Given the description of an element on the screen output the (x, y) to click on. 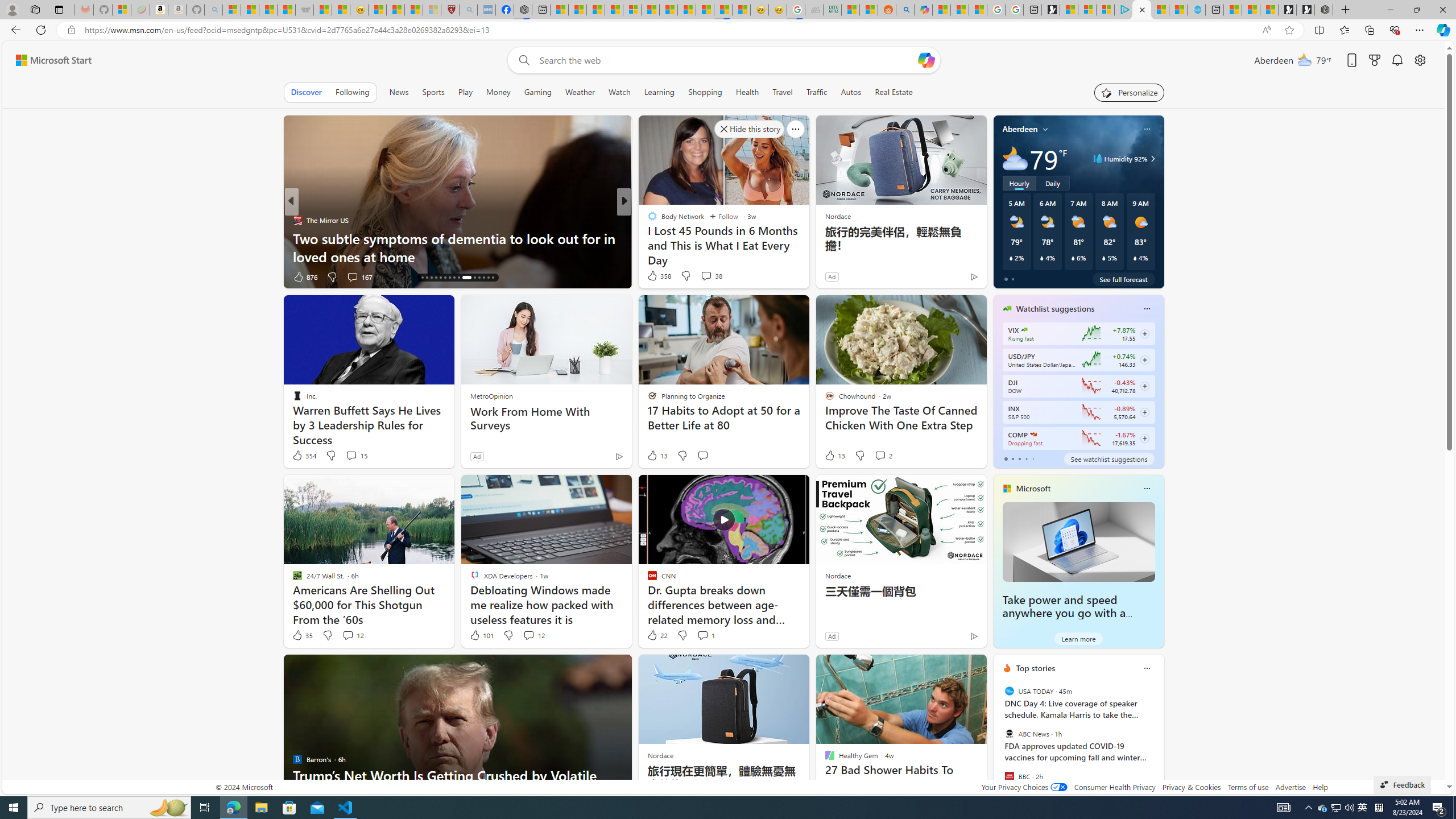
Aberdeen (1019, 128)
Microsoft Start Gaming (1050, 9)
Weather (579, 92)
My location (1045, 128)
MSNBC - MSN (850, 9)
Gaming (537, 92)
View comments 4 Comment (698, 276)
